Given the description of an element on the screen output the (x, y) to click on. 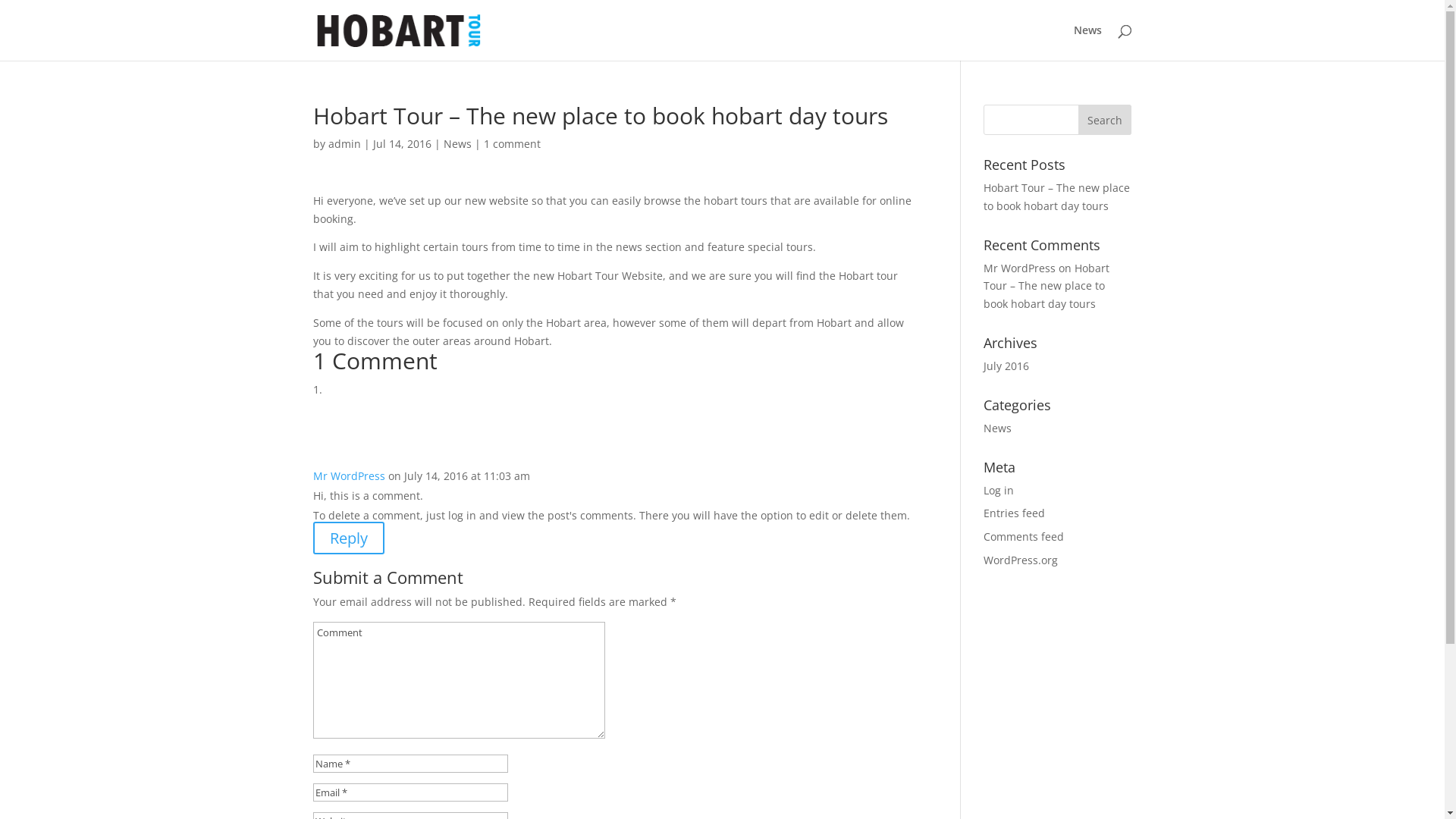
Search Element type: text (1104, 119)
July 2016 Element type: text (1006, 365)
News Element type: text (997, 427)
Log in Element type: text (998, 490)
Entries feed Element type: text (1013, 512)
News Element type: text (456, 143)
1 comment Element type: text (511, 143)
WordPress.org Element type: text (1020, 559)
Mr WordPress Element type: text (348, 475)
admin Element type: text (343, 143)
News Element type: text (1087, 42)
Reply Element type: text (347, 537)
Comments feed Element type: text (1023, 536)
Mr WordPress Element type: text (1019, 267)
